Given the description of an element on the screen output the (x, y) to click on. 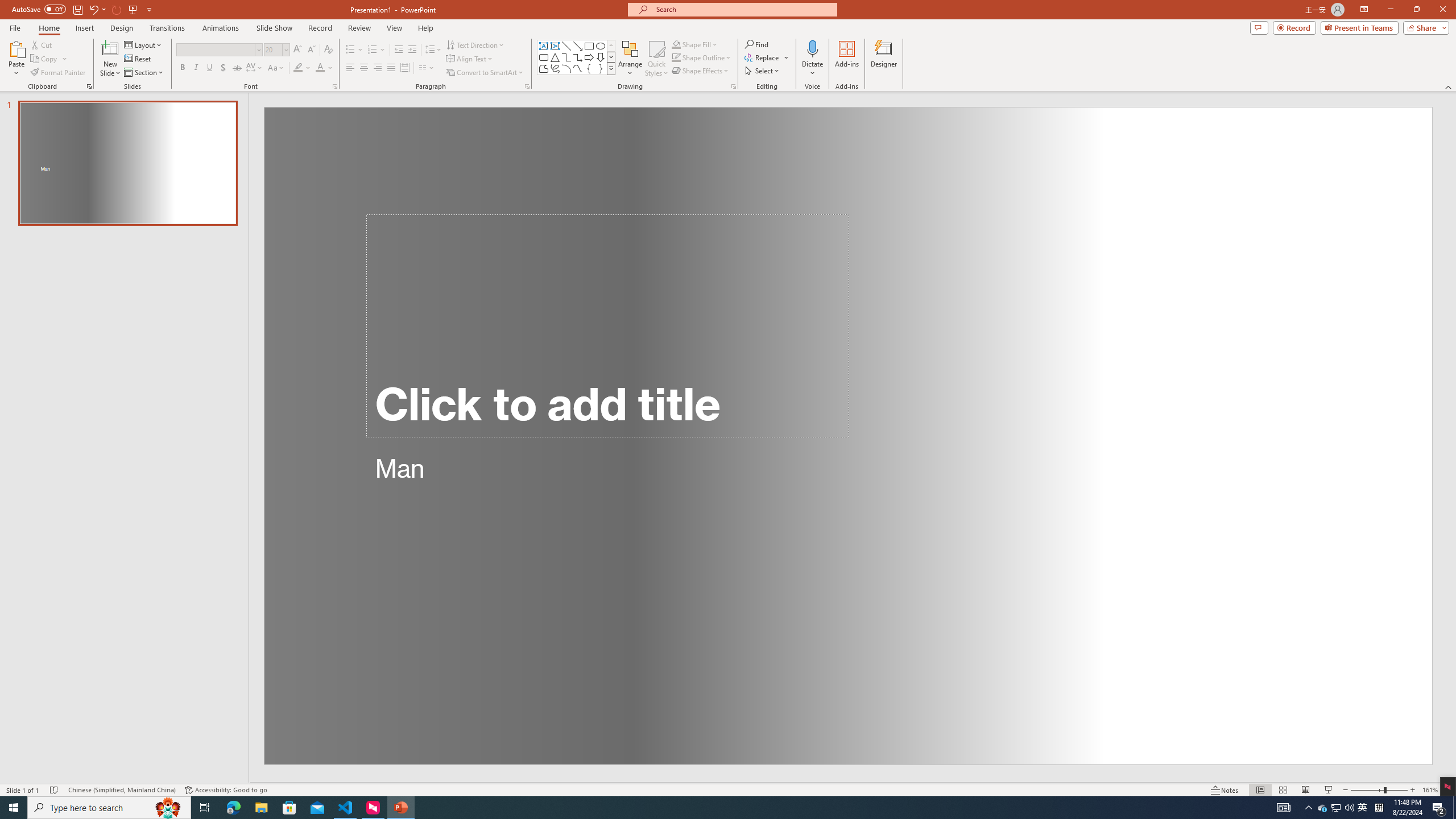
Section (144, 72)
